Given the description of an element on the screen output the (x, y) to click on. 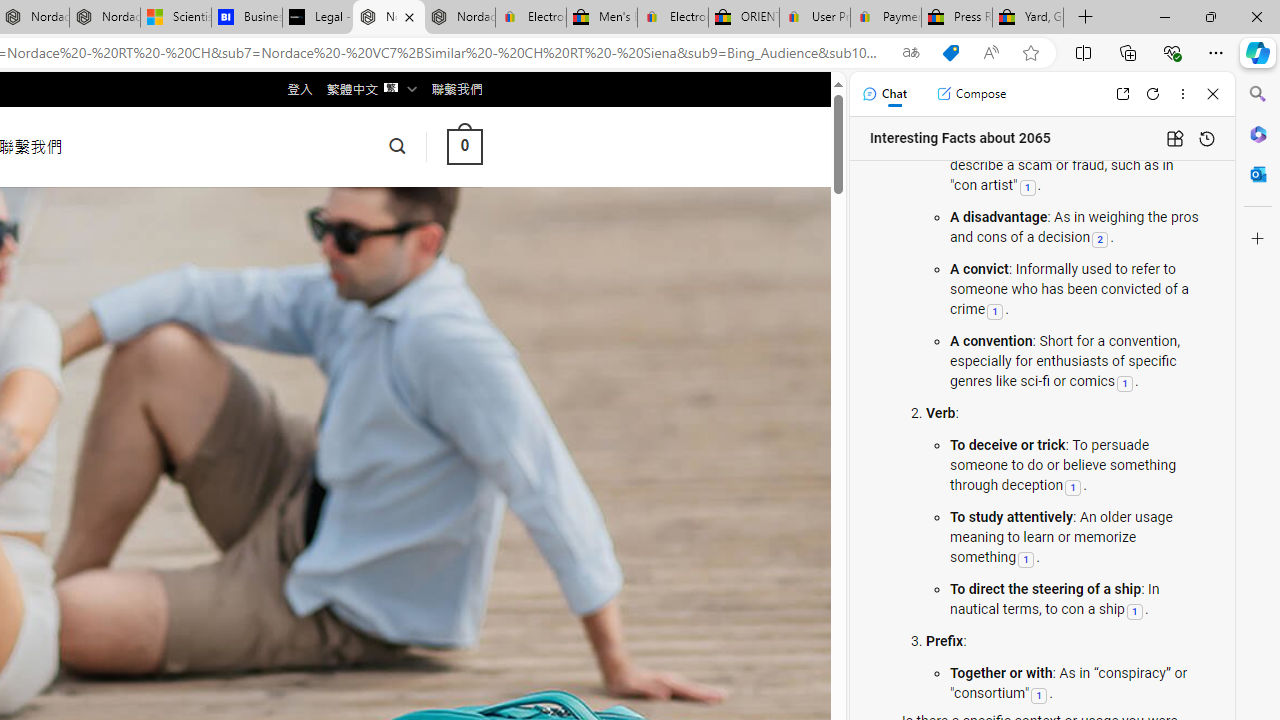
Payments Terms of Use | eBay.com (886, 17)
User Privacy Notice | eBay (814, 17)
 0  (464, 146)
Minimize Search pane (1258, 94)
